Given the description of an element on the screen output the (x, y) to click on. 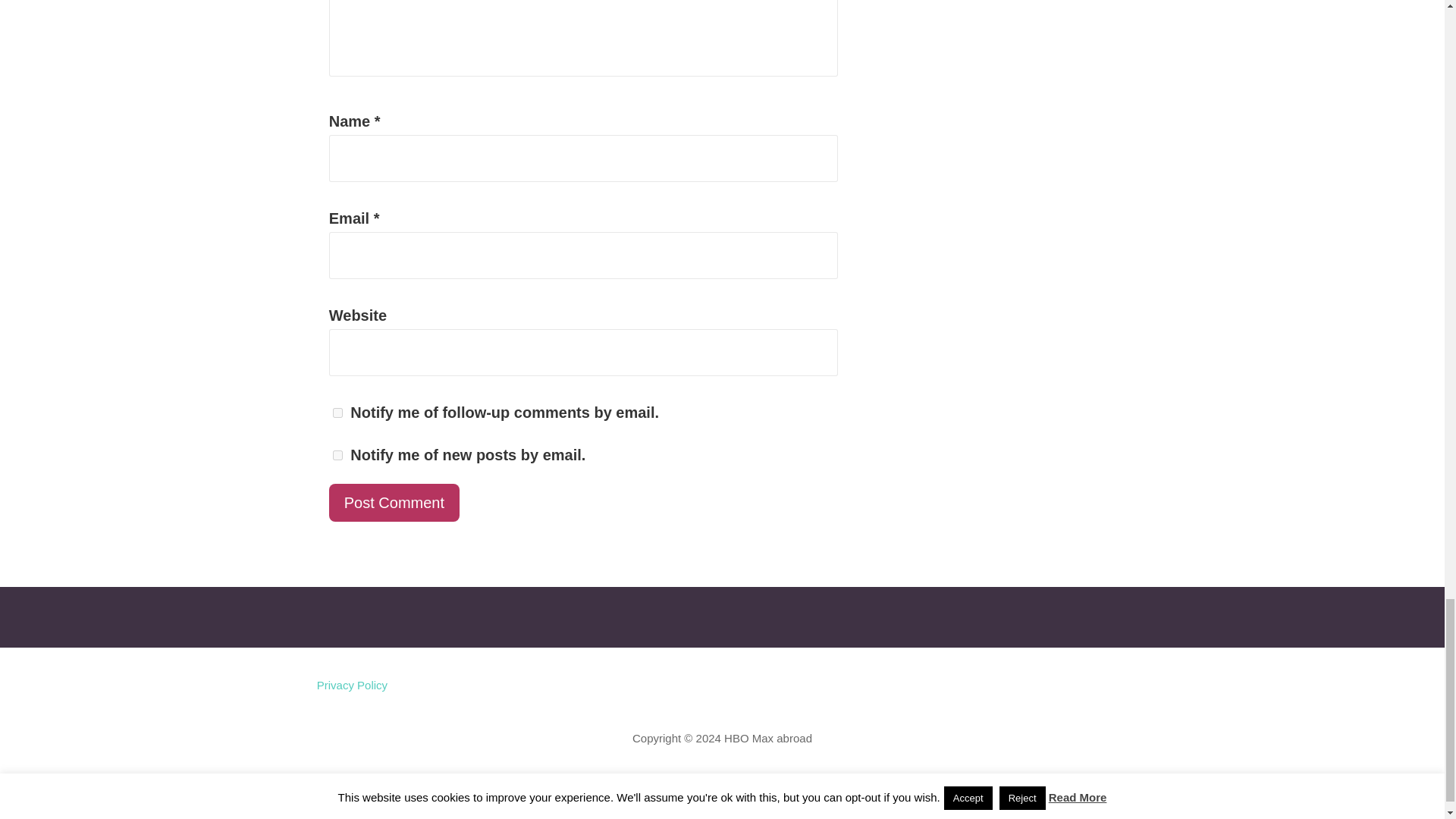
subscribe (337, 412)
Privacy Policy (352, 685)
Post Comment (394, 502)
subscribe (337, 455)
Post Comment (394, 502)
